Given the description of an element on the screen output the (x, y) to click on. 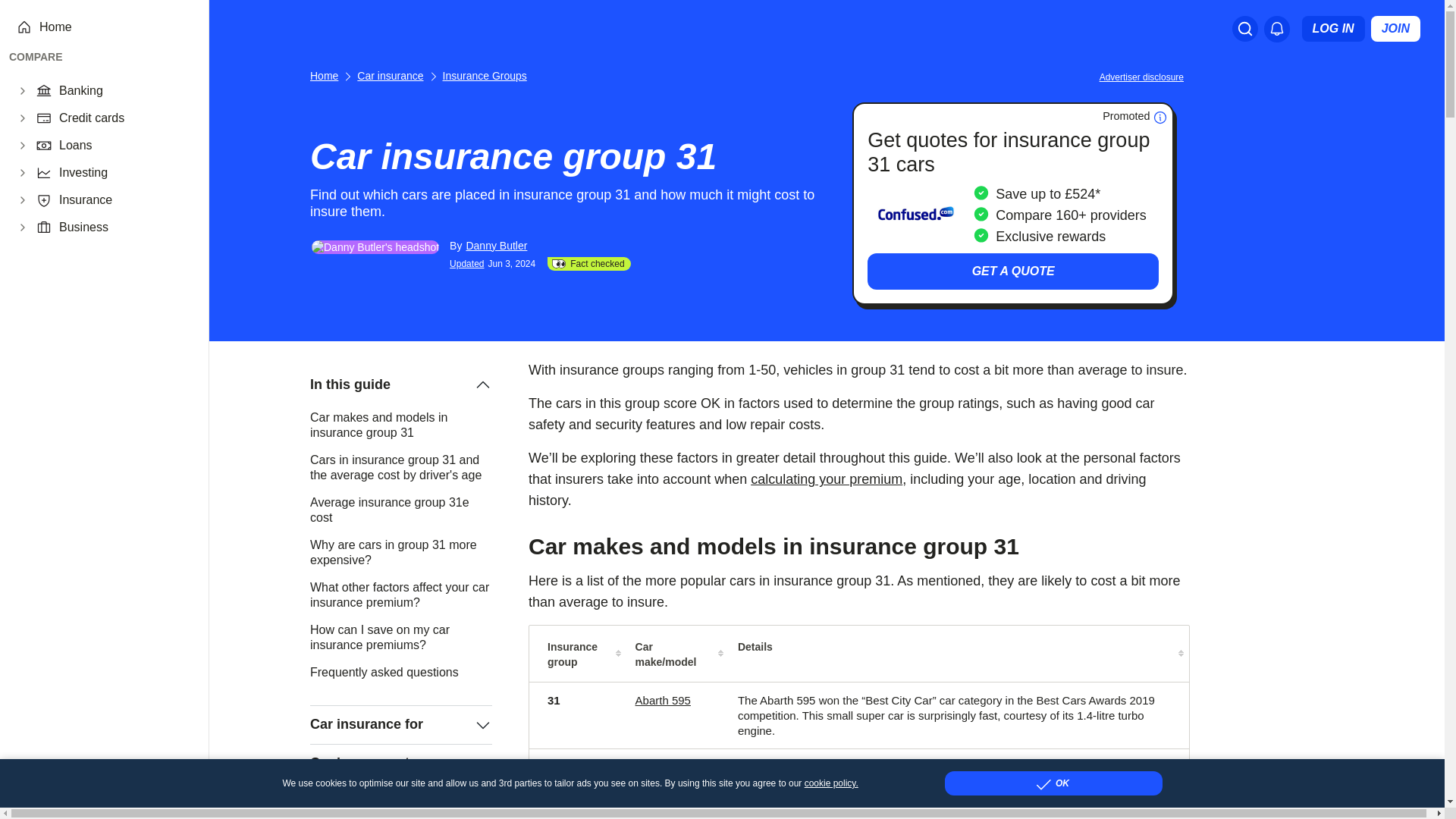
Banking (124, 90)
Loans (124, 145)
Home (114, 27)
Back to Top (1430, 793)
Important information about this website (1144, 76)
Credit cards (124, 117)
